Given the description of an element on the screen output the (x, y) to click on. 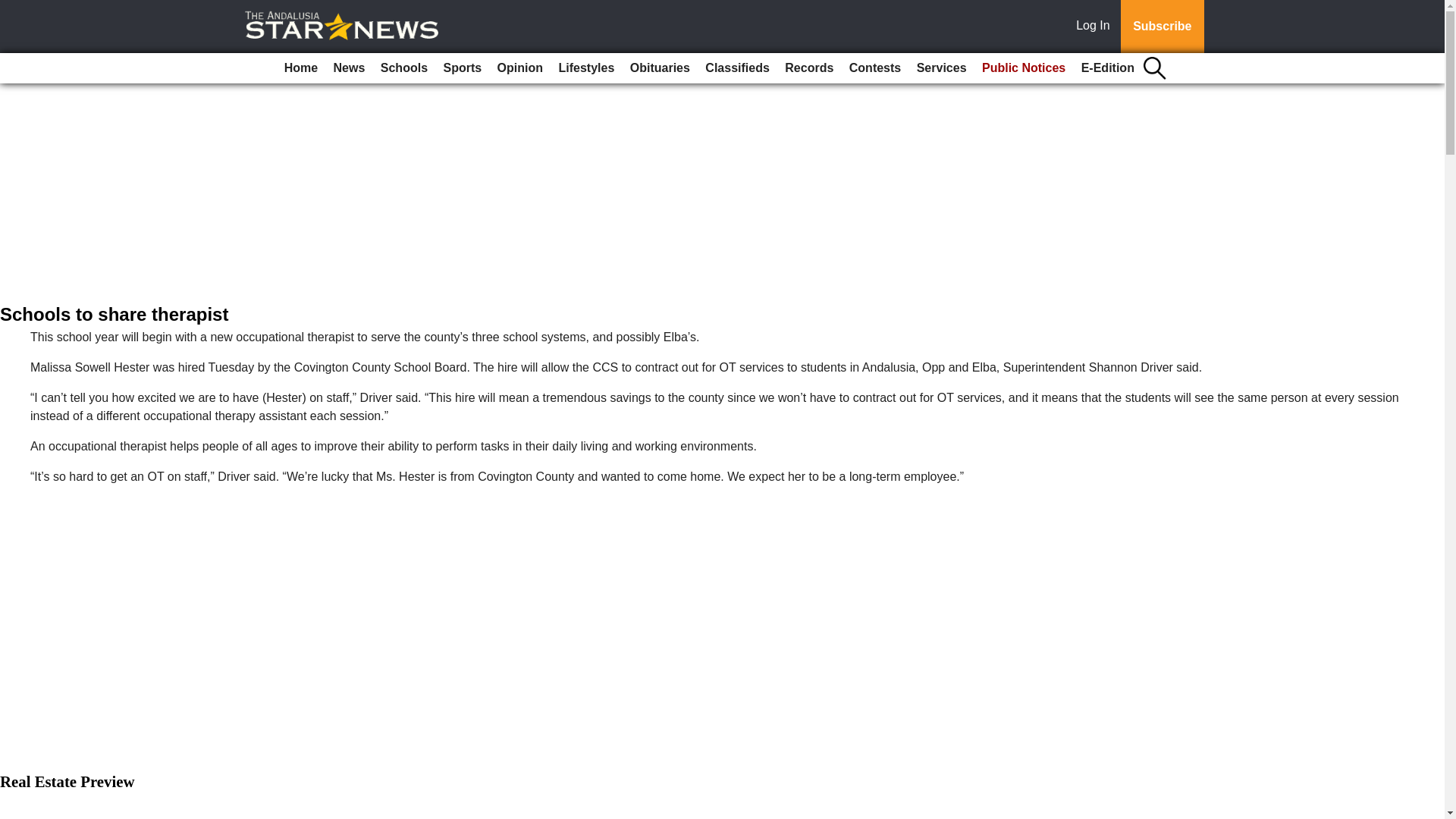
E-Edition (1107, 68)
Public Notices (1023, 68)
Subscribe (1162, 26)
Contests (875, 68)
Records (809, 68)
Log In (1095, 26)
Sports (461, 68)
Opinion (520, 68)
Schools (403, 68)
Home (300, 68)
Obituaries (659, 68)
News (349, 68)
Classifieds (736, 68)
Go (13, 9)
Services (941, 68)
